Given the description of an element on the screen output the (x, y) to click on. 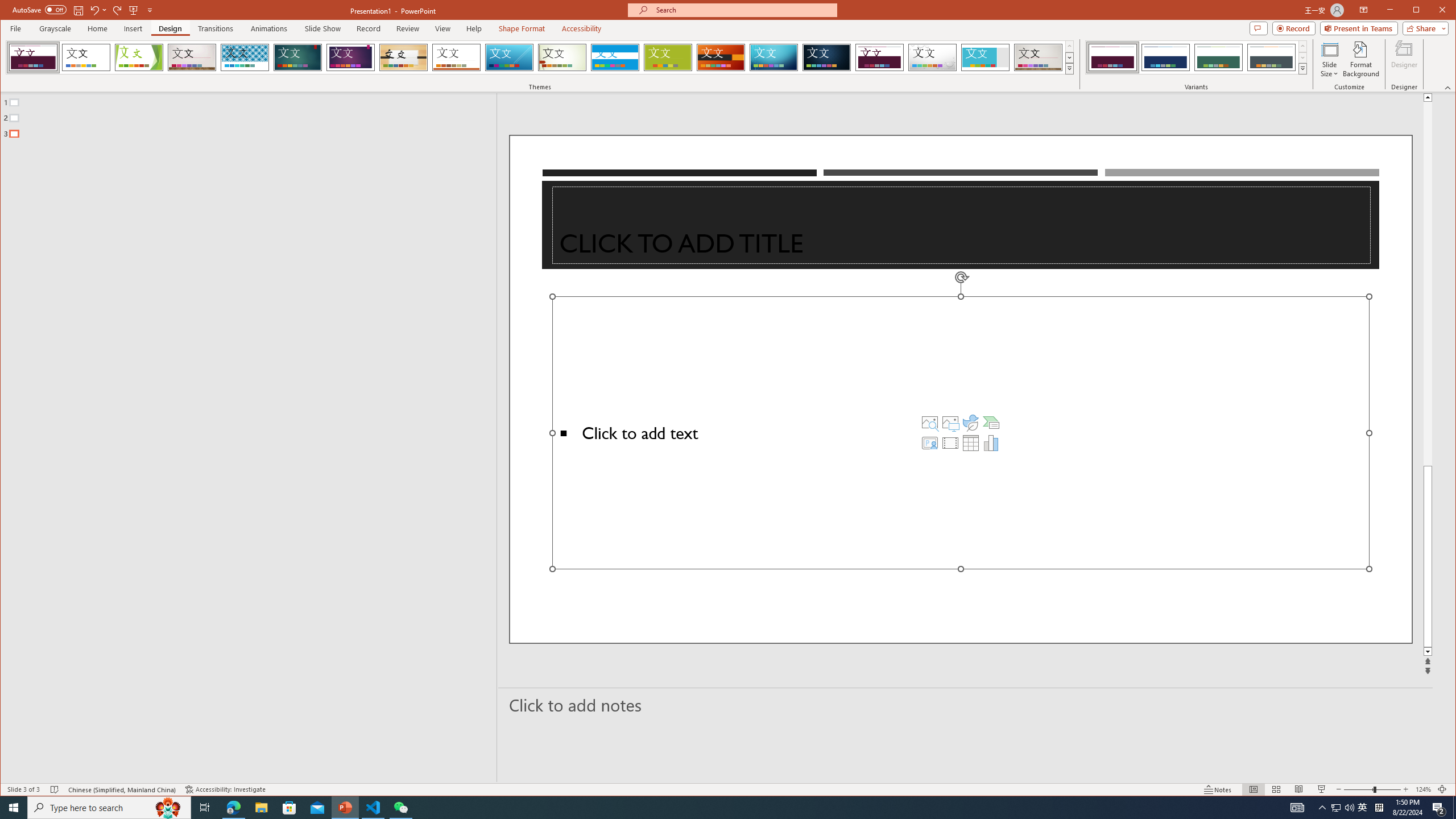
AutomationID: SlideThemesGallery (540, 57)
Ion Boardroom (350, 57)
Zoom 124% (1422, 789)
